Given the description of an element on the screen output the (x, y) to click on. 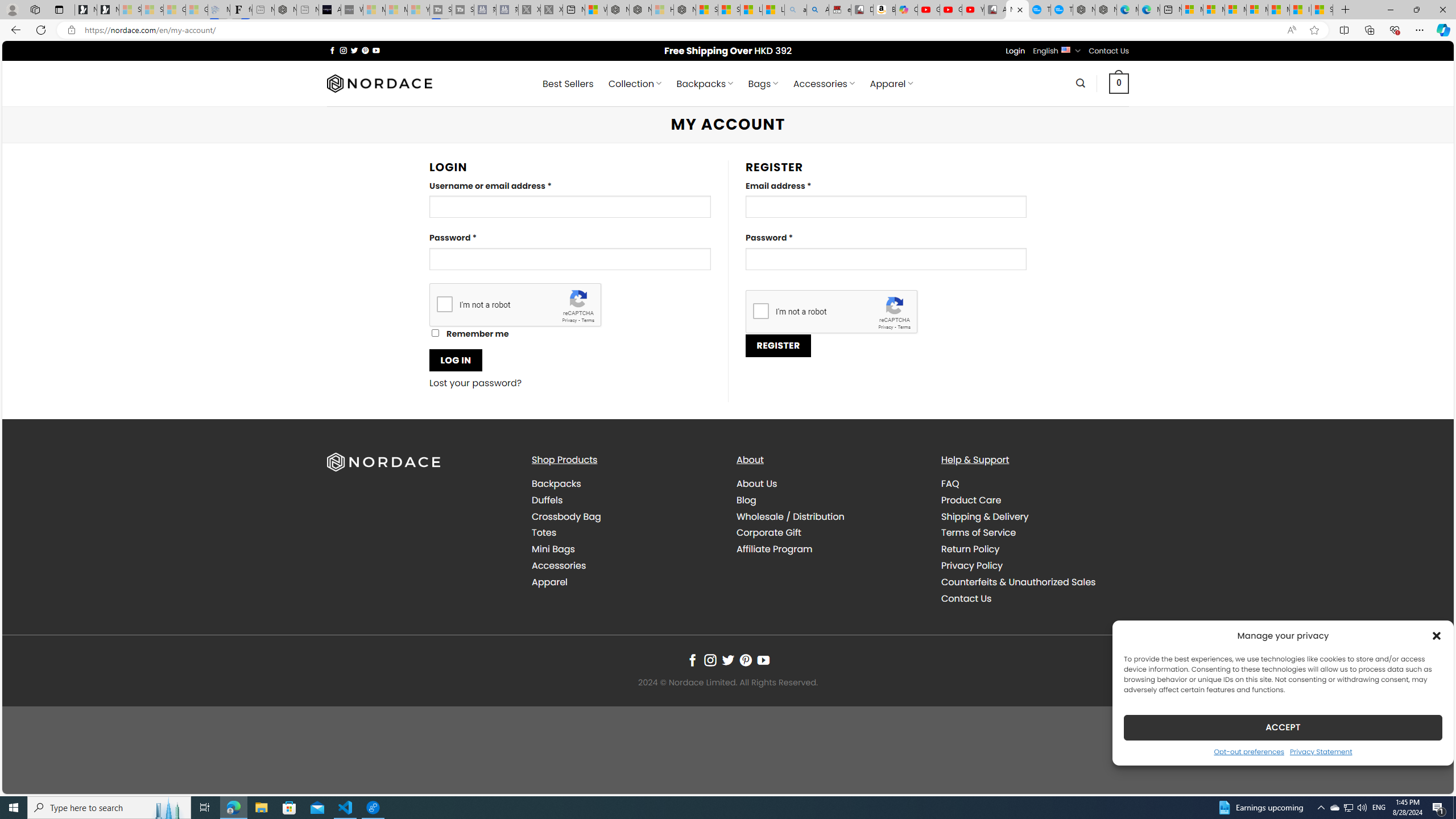
Lost your password? (475, 382)
Totes (625, 532)
Corporate Gift (768, 532)
Nordace - My Account (1017, 9)
Copilot (907, 9)
